Given the description of an element on the screen output the (x, y) to click on. 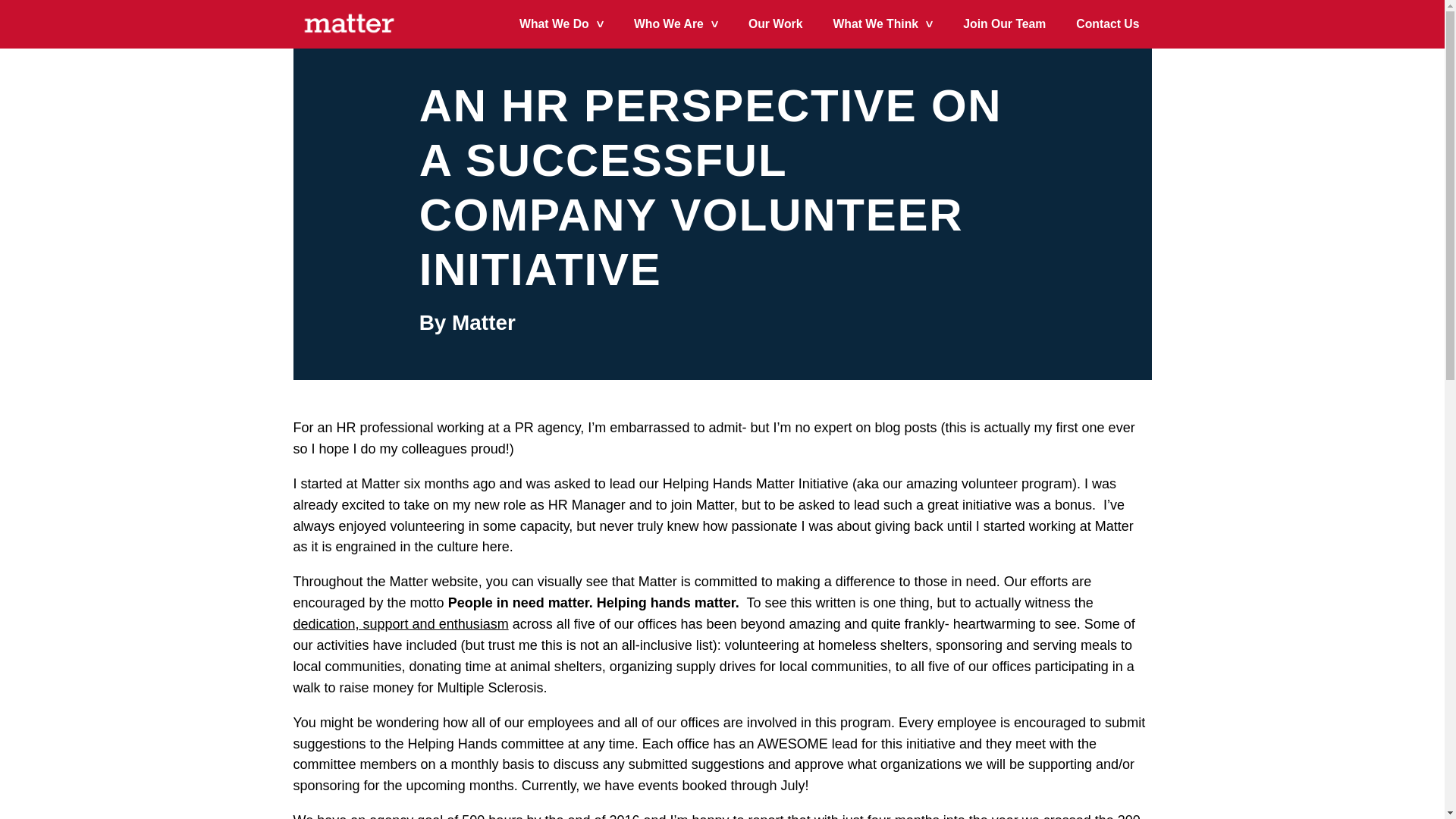
What We Think (882, 24)
Who We Are (675, 24)
Our Work (775, 24)
What We Do (561, 24)
